Given the description of an element on the screen output the (x, y) to click on. 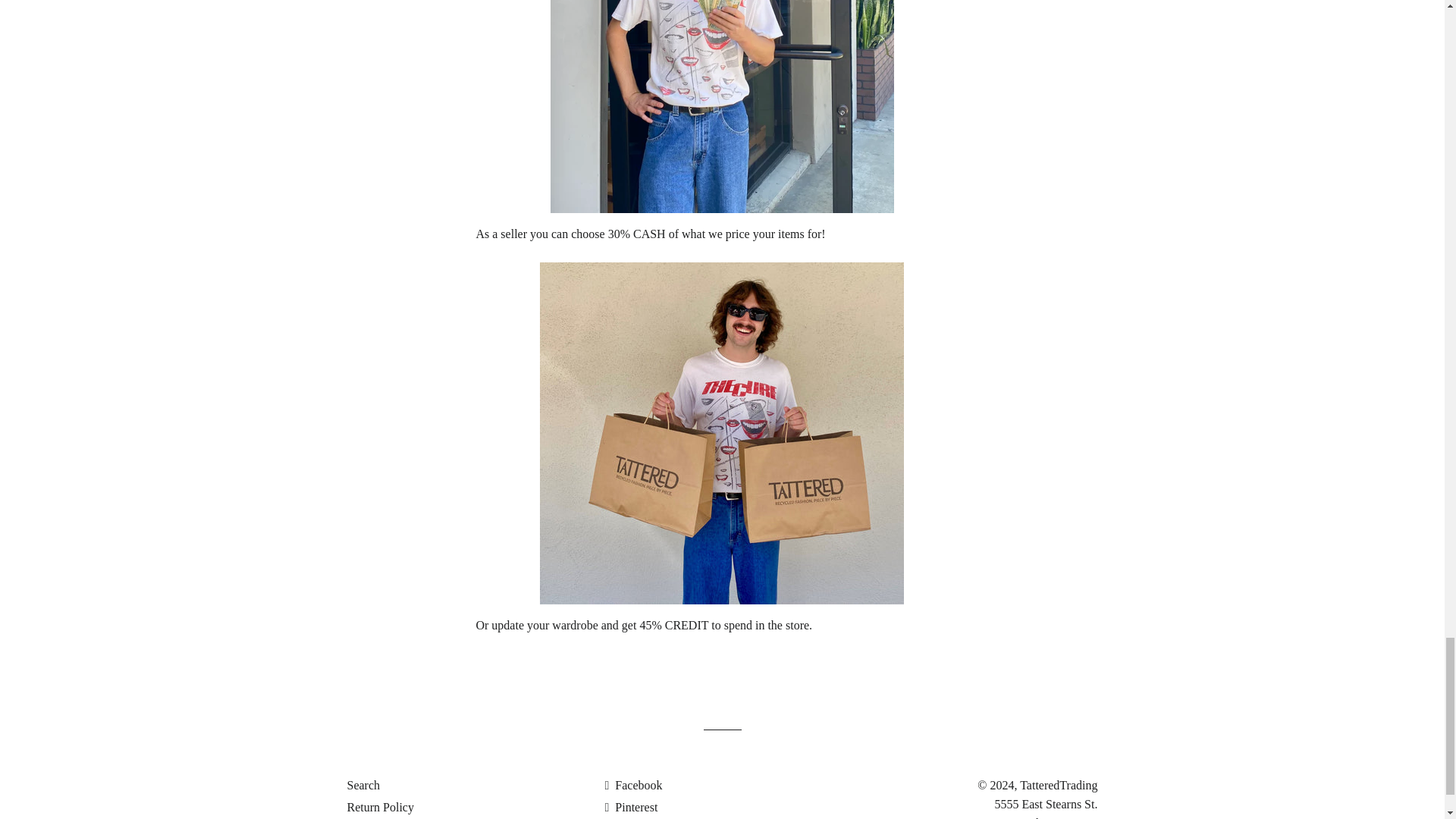
Return Policy (380, 807)
TatteredTrading (1058, 784)
Pinterest (631, 807)
TatteredTrading on Facebook (633, 784)
TatteredTrading on Pinterest (631, 807)
Facebook (633, 784)
Search (363, 784)
